Given the description of an element on the screen output the (x, y) to click on. 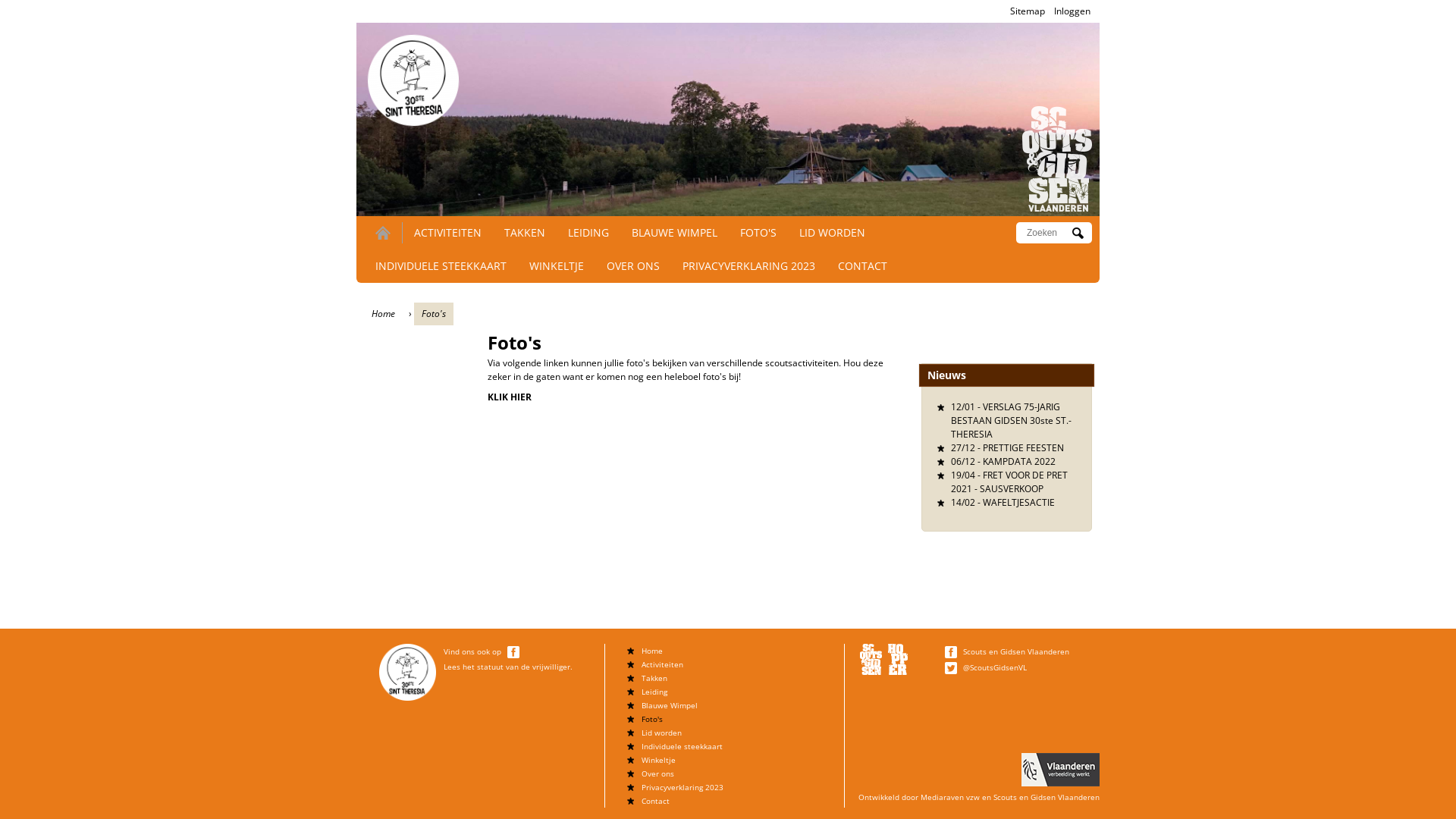
LID WORDEN Element type: text (832, 232)
KLIK HIER Element type: text (509, 396)
WAFELTJESACTIE Element type: text (1018, 501)
LEIDING Element type: text (587, 232)
FRET VOOR DE PRET 2021 - SAUSVERKOOP Element type: text (1008, 481)
PRIVACYVERKLARING 2023 Element type: text (748, 265)
Lid worden Element type: text (661, 732)
Contact Element type: text (655, 800)
INDIVIDUELE STEEKKAART Element type: text (440, 265)
Home Element type: text (383, 313)
Home Element type: hover (1057, 158)
Scouts & Gidsen Vlaanderen Element type: hover (870, 658)
Scouts en Gidsen Vlaanderen Element type: text (1046, 796)
PRETTIGE FEESTEN Element type: text (1022, 447)
Foto's Element type: text (651, 718)
Mediaraven vzw Element type: text (949, 796)
Twitter Element type: hover (950, 668)
Inloggen Element type: text (1072, 10)
WINKELTJE Element type: text (556, 265)
Home Element type: text (651, 650)
Winkeltje Element type: text (658, 759)
Sitemap Element type: text (1027, 10)
VERSLAG 75-JARIG BESTAAN GIDSEN 30ste ST.-THERESIA Element type: text (1010, 420)
Individuele steekkaart Element type: text (681, 745)
Privacyverklaring 2023 Element type: text (682, 786)
Scouts & Gidsen Vlaanderen op Facebook Element type: hover (952, 651)
Geef de woorden op waarnaar u wilt zoeken. Element type: hover (1047, 232)
Blauwe Wimpel Element type: text (669, 704)
@ScoutsGidsenVL Element type: text (994, 667)
Hopper Element type: hover (897, 658)
Over ons Element type: text (657, 773)
Home Element type: hover (410, 76)
Scouts en Gidsen Vlaanderen Element type: text (1016, 651)
ACTIVITEITEN Element type: text (447, 232)
FOTO'S Element type: text (758, 232)
Activiteiten Element type: text (662, 663)
HOME Element type: text (382, 232)
Facebook Element type: hover (513, 652)
Takken Element type: text (654, 677)
TAKKEN Element type: text (524, 232)
het statuut van de vrijwilliger Element type: text (516, 666)
CONTACT Element type: text (862, 265)
OVER ONS Element type: text (632, 265)
BLAUWE WIMPEL Element type: text (674, 232)
Scouts & Gidsen Vlaanderen op Twitter Element type: hover (952, 667)
Facebook Element type: hover (950, 652)
Leiding Element type: text (654, 691)
KAMPDATA 2022 Element type: text (1018, 461)
